Given the description of an element on the screen output the (x, y) to click on. 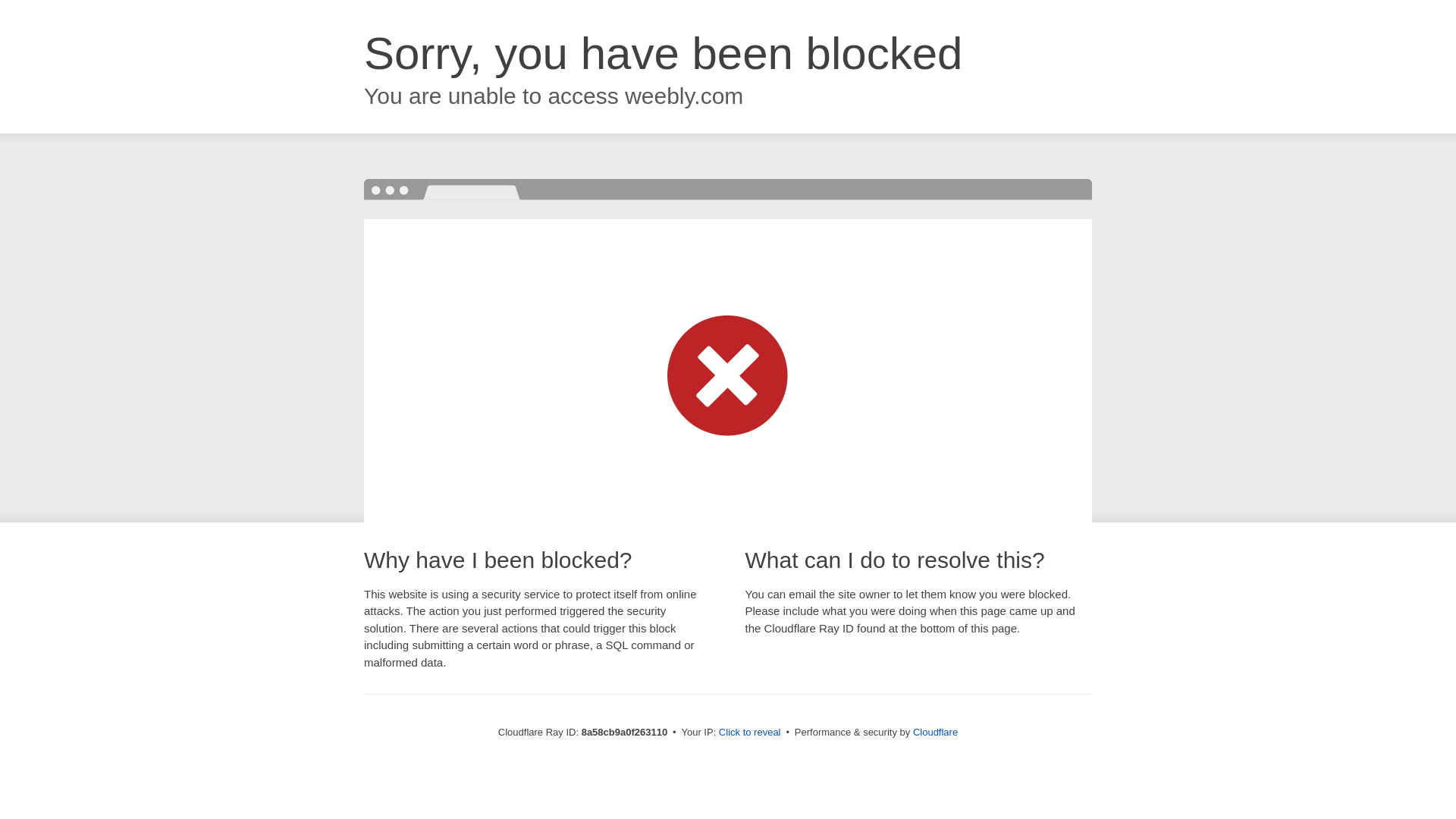
Cloudflare (935, 731)
Click to reveal (749, 732)
